Given the description of an element on the screen output the (x, y) to click on. 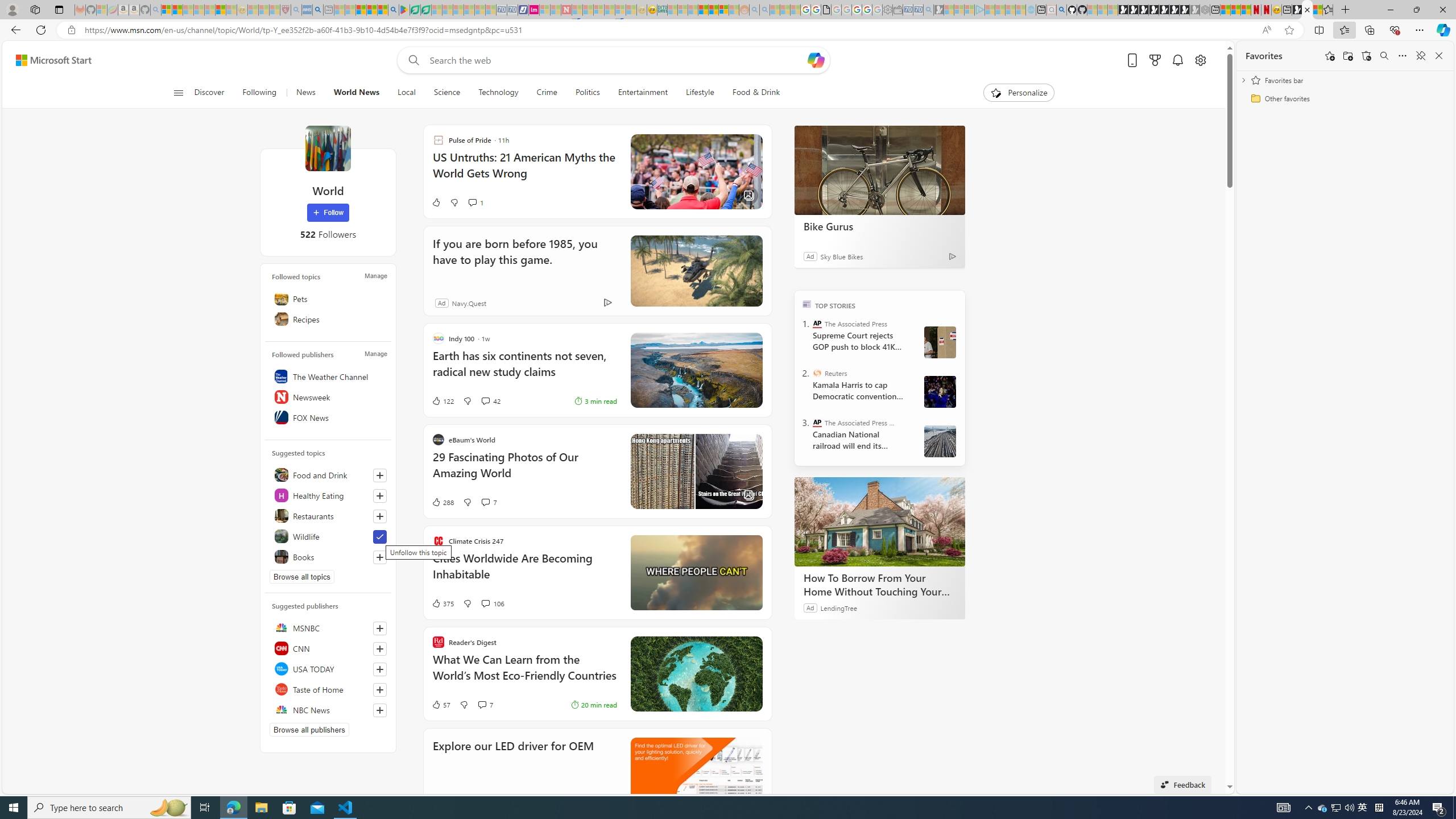
Explore our LED driver for OEM (696, 773)
Cities Worldwide Are Becoming Inhabitable (524, 572)
Microsoft Word - consumer-privacy address update 2.2021 (426, 9)
29 Fascinating Photos of Our Amazing World (524, 470)
